Given the description of an element on the screen output the (x, y) to click on. 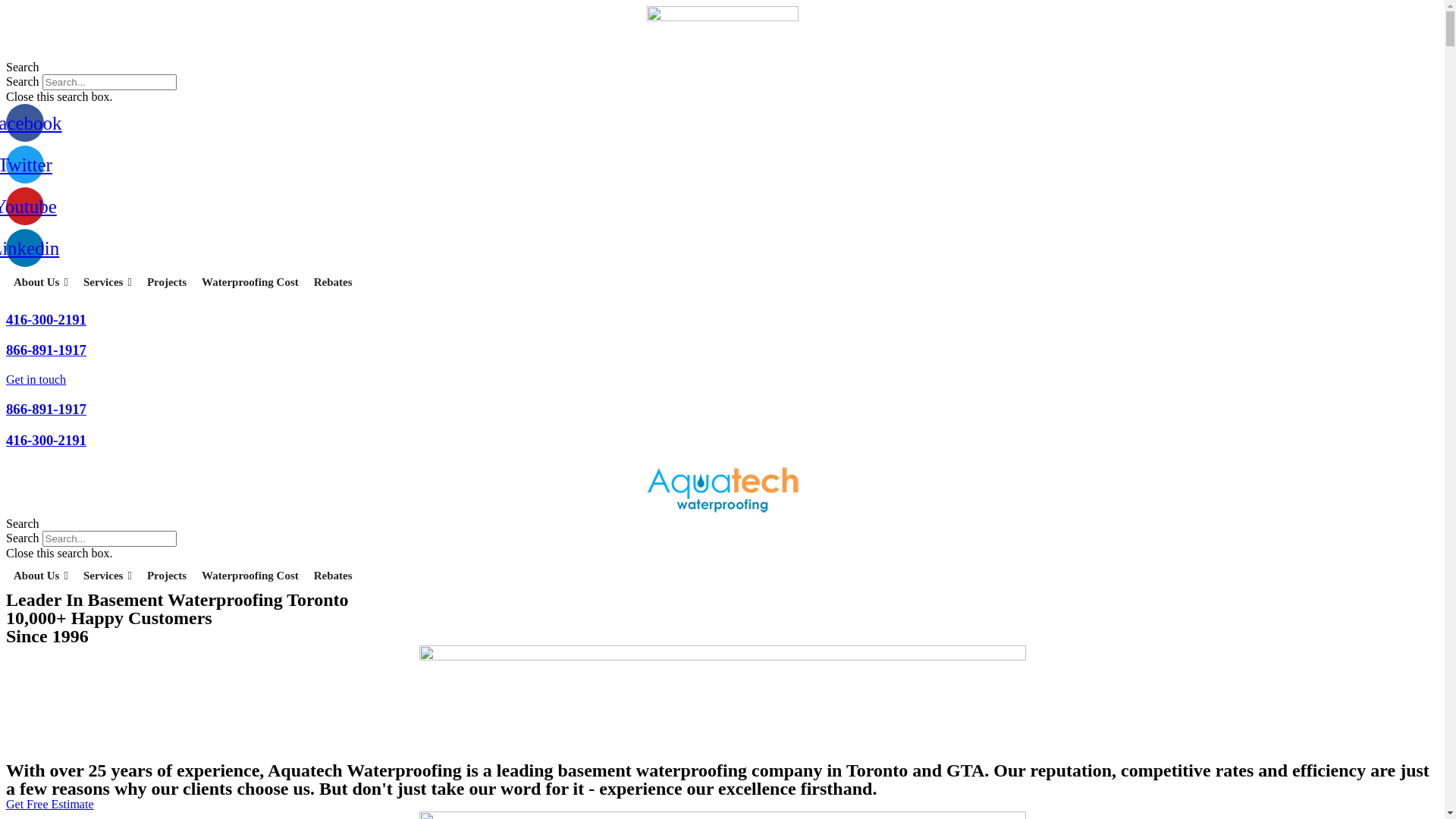
About Us Element type: text (40, 281)
Linkedin Element type: text (24, 247)
Twitter Element type: text (24, 164)
Rebates Element type: text (333, 575)
Waterproofing Cost Element type: text (250, 281)
Projects Element type: text (166, 281)
Facebook Element type: text (24, 122)
Skip to content Element type: text (5, 5)
866-891-1917 Element type: text (46, 349)
Waterproofing Cost Element type: text (250, 575)
866-891-1917 Element type: text (46, 409)
416-300-2191 Element type: text (46, 319)
Services Element type: text (107, 575)
About Us Element type: text (40, 575)
Rebates Element type: text (333, 281)
Get Free Estimate Element type: text (50, 803)
416-300-2191 Element type: text (46, 440)
Get in touch Element type: text (35, 379)
Services Element type: text (107, 281)
Projects Element type: text (166, 575)
Youtube Element type: text (24, 206)
